Given the description of an element on the screen output the (x, y) to click on. 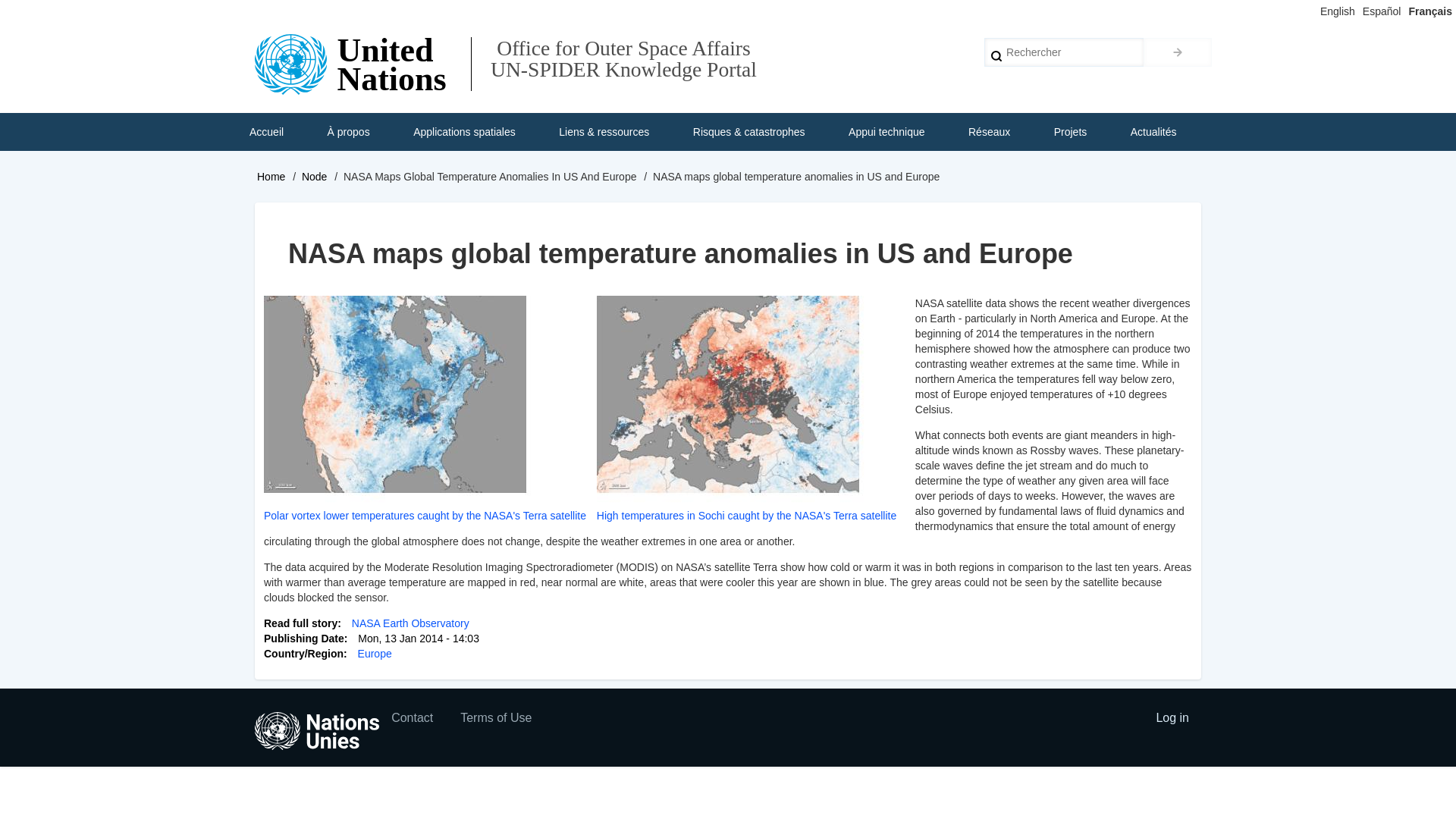
Applications spatiales (464, 131)
. (1176, 51)
. (1176, 51)
Appui technique (886, 131)
English (1337, 10)
Enter the terms you wish to search for. (1063, 51)
Accueil (266, 131)
. (1176, 51)
